Given the description of an element on the screen output the (x, y) to click on. 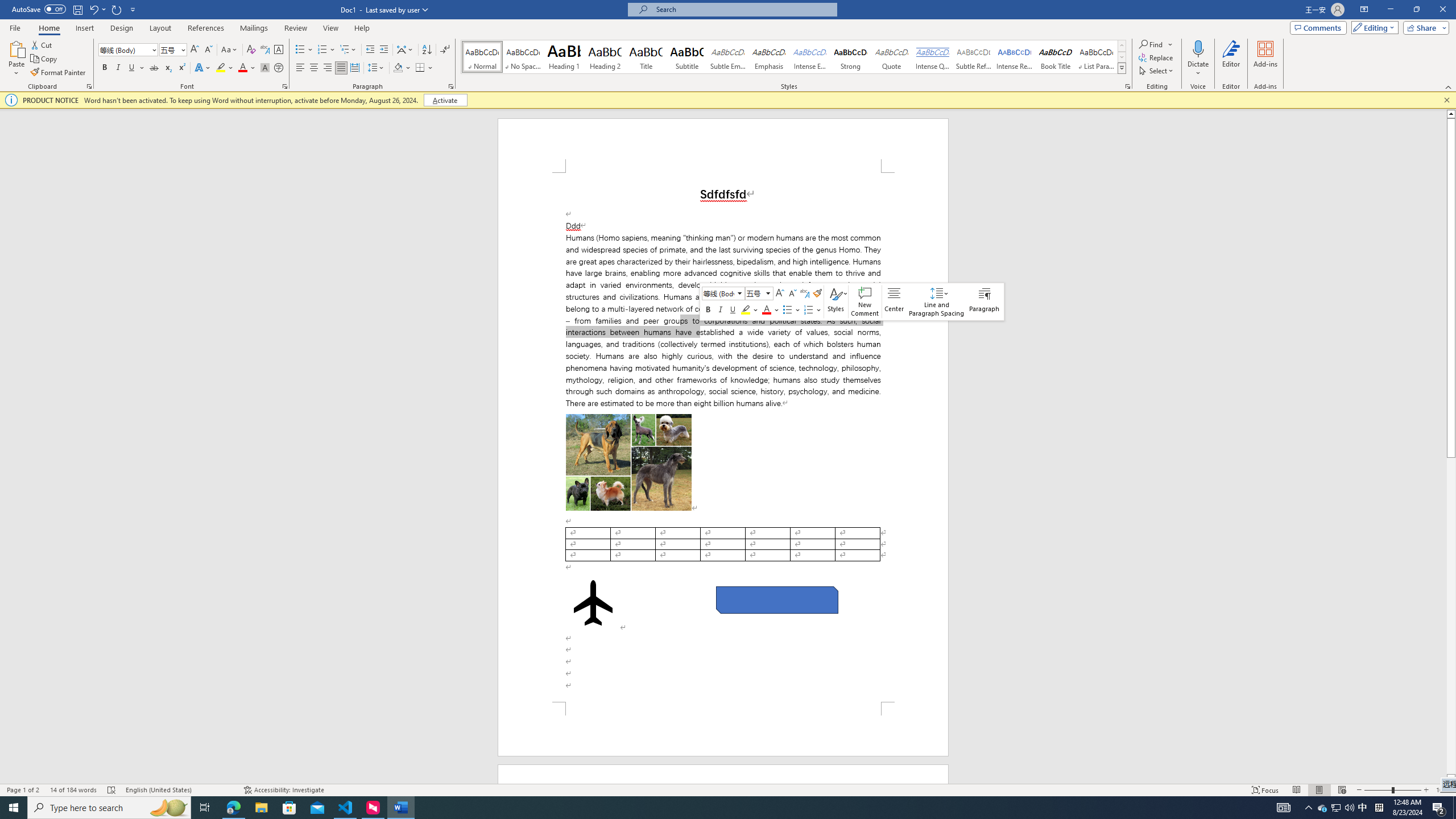
Class: NetUIToolWindow (851, 301)
Book Title (1055, 56)
Airplane with solid fill (593, 602)
